Given the description of an element on the screen output the (x, y) to click on. 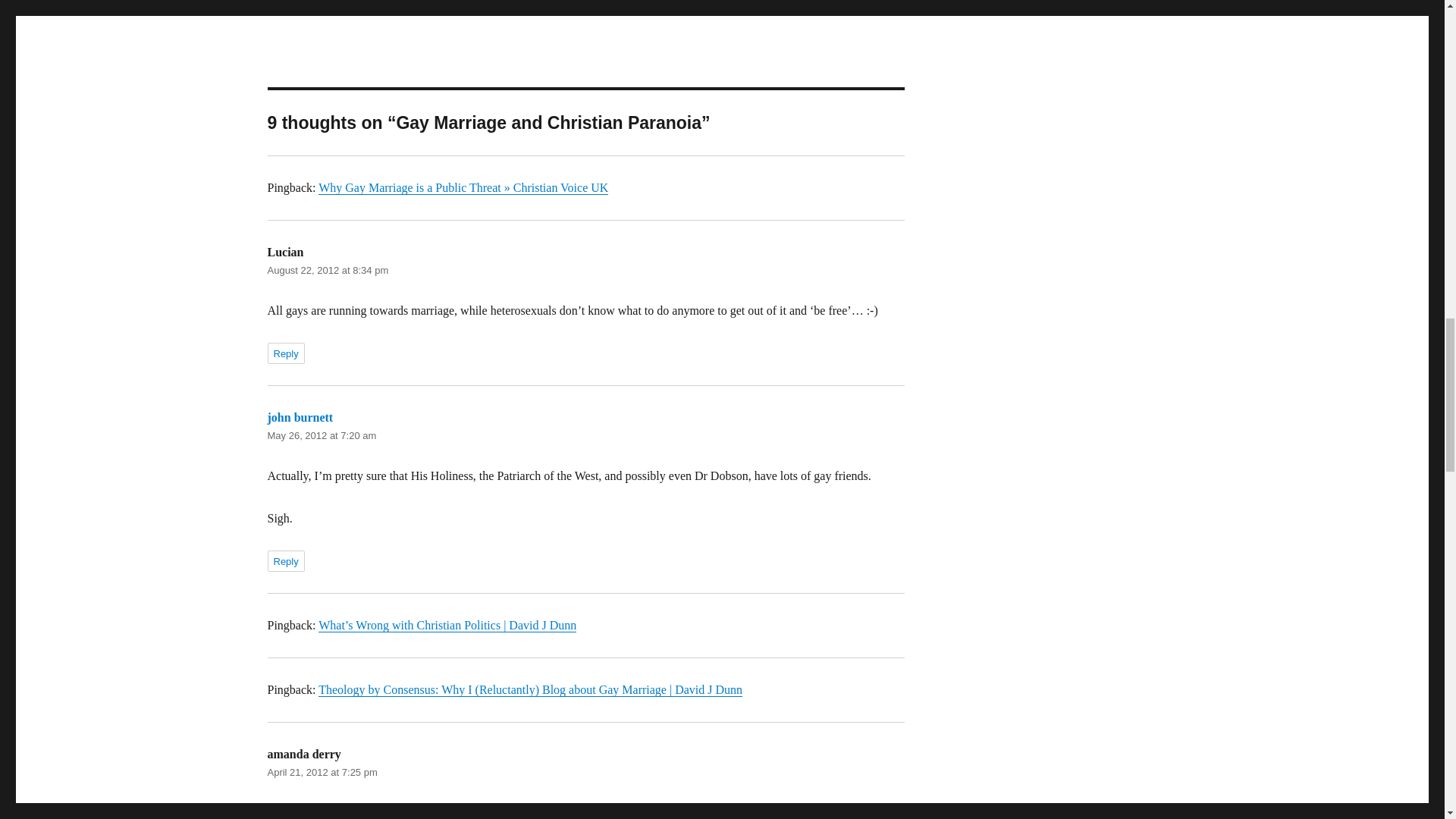
April 21, 2012 at 7:25 pm (321, 772)
August 22, 2012 at 8:34 pm (327, 270)
Reply (285, 353)
john burnett (299, 417)
May 26, 2012 at 7:20 am (320, 435)
Reply (285, 560)
